Given the description of an element on the screen output the (x, y) to click on. 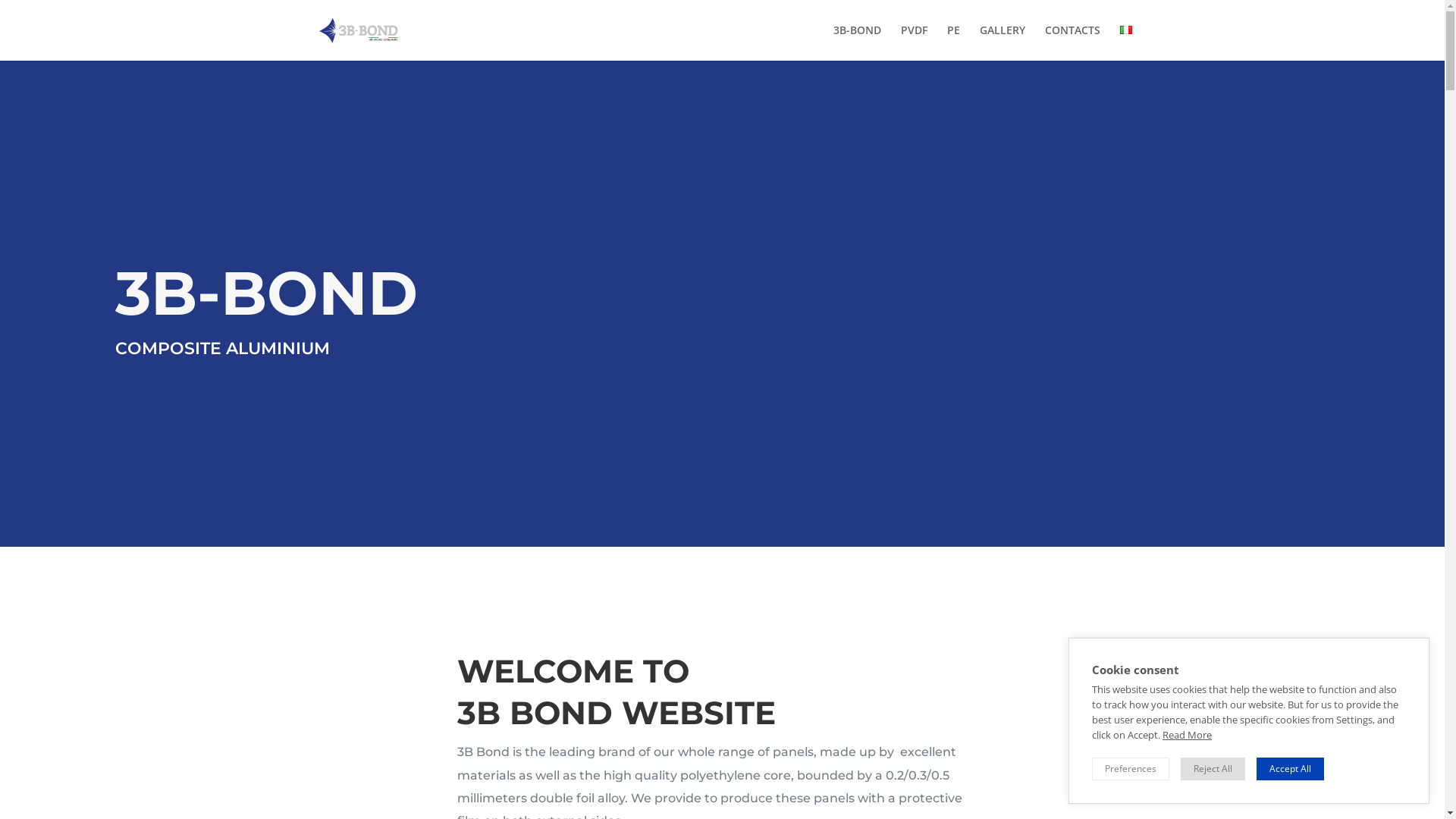
CONTACTS Element type: text (1072, 42)
Preferences Element type: text (1130, 768)
Accept All Element type: text (1290, 768)
GALLERY Element type: text (1002, 42)
PVDF Element type: text (913, 42)
PE Element type: text (952, 42)
Read More Element type: text (1186, 734)
3B-BOND Element type: text (856, 42)
Reject All Element type: text (1212, 768)
